Given the description of an element on the screen output the (x, y) to click on. 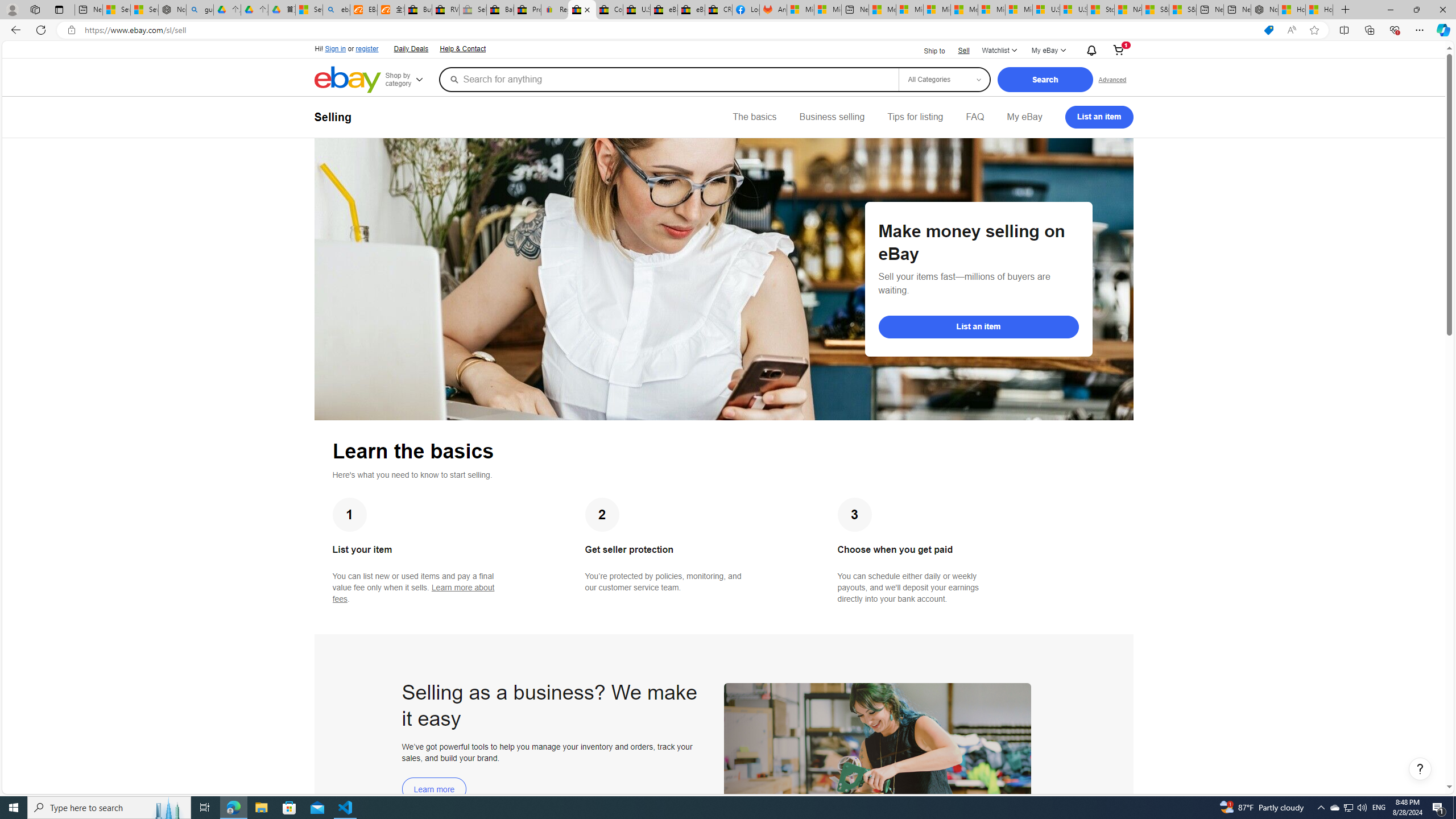
Sell worldwide with eBay - Sleeping (473, 9)
guge yunpan - Search (200, 9)
Shop by category (410, 79)
eBay Inc. Reports Third Quarter 2023 Results (691, 9)
Log into Facebook (746, 9)
My eBay (1024, 116)
Daily Deals (411, 49)
My eBay (1024, 116)
Daily Deals (410, 48)
